Given the description of an element on the screen output the (x, y) to click on. 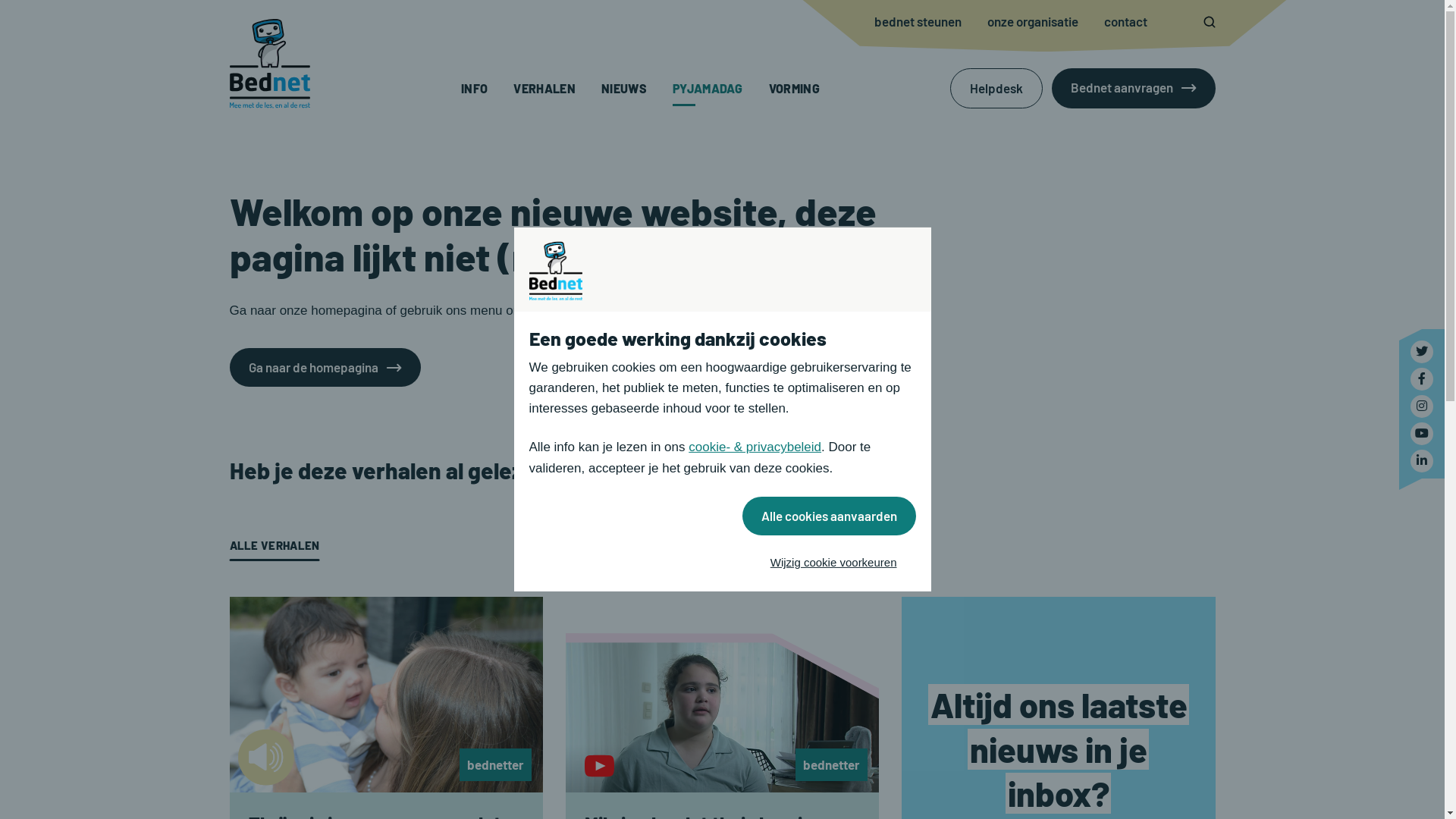
Ga naar de homepagina Element type: text (324, 367)
VERHALEN Element type: text (544, 88)
bednet steunen Element type: text (916, 21)
cookie- & privacybeleid Element type: text (754, 446)
ALLE VERHALEN Element type: text (274, 545)
Bednet aanvragen Element type: text (1132, 88)
Bednet Element type: hover (1421, 433)
Bednet Element type: text (269, 63)
contact Element type: text (1125, 21)
Helpdesk Element type: text (996, 88)
Bednet Element type: hover (1421, 406)
Bednet Element type: hover (1421, 351)
INFO Element type: text (474, 88)
onze organisatie Element type: text (1032, 21)
NIEUWS Element type: text (623, 88)
PYJAMADAG Element type: text (707, 88)
VORMING Element type: text (793, 88)
Bednet Element type: hover (1421, 378)
Wijzig cookie voorkeuren Element type: text (833, 562)
Bednet Element type: hover (1421, 460)
Alle cookies aanvaarden Element type: text (828, 515)
